Given the description of an element on the screen output the (x, y) to click on. 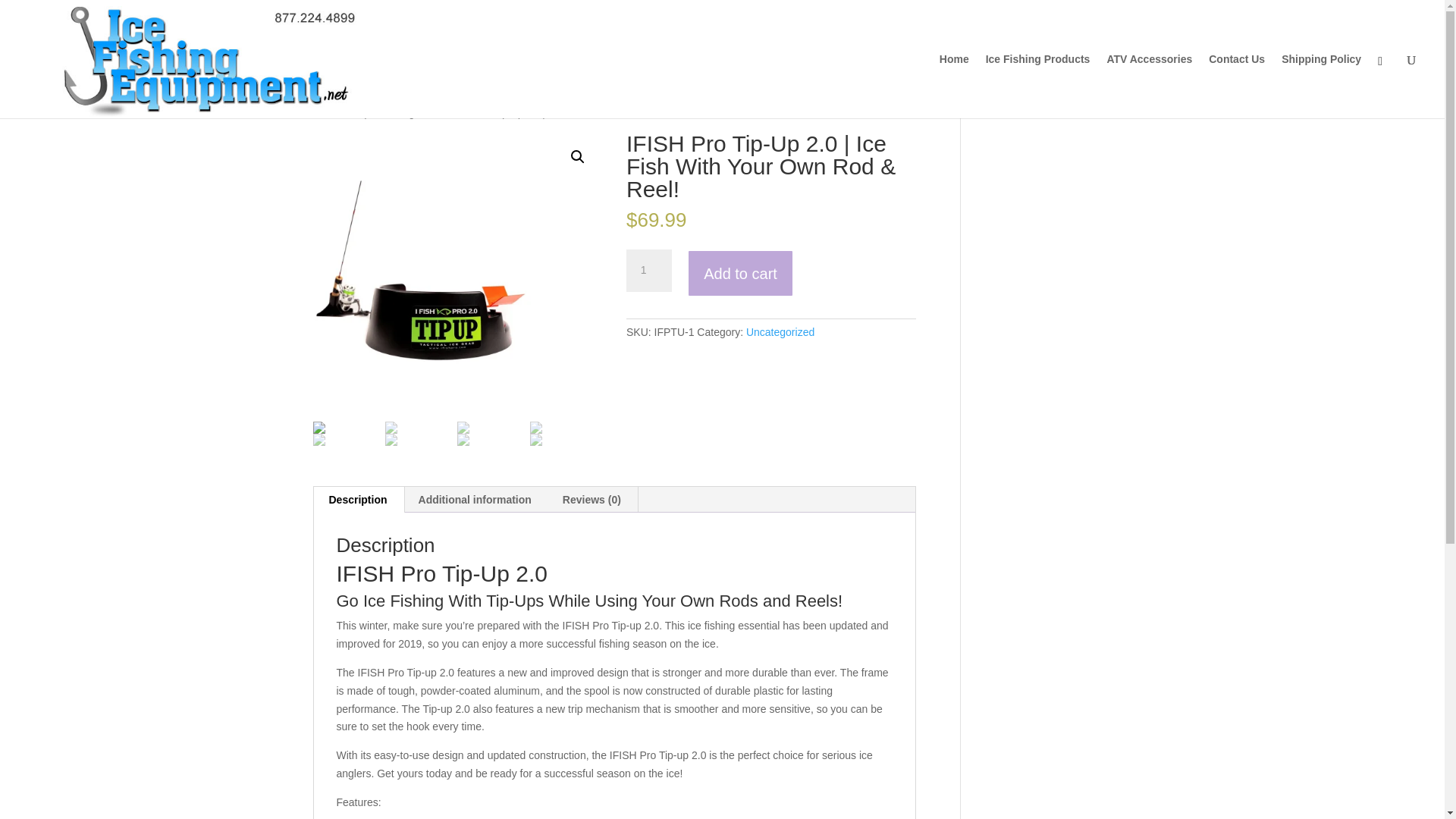
Uncategorized (779, 331)
Shop (358, 112)
Add to cart (740, 273)
Description (358, 499)
Home (325, 112)
Ice Fishing Products (1037, 85)
Additional information (474, 499)
04023228040 (457, 277)
Uncategorized (409, 112)
ATV Accessories (1149, 85)
